Given the description of an element on the screen output the (x, y) to click on. 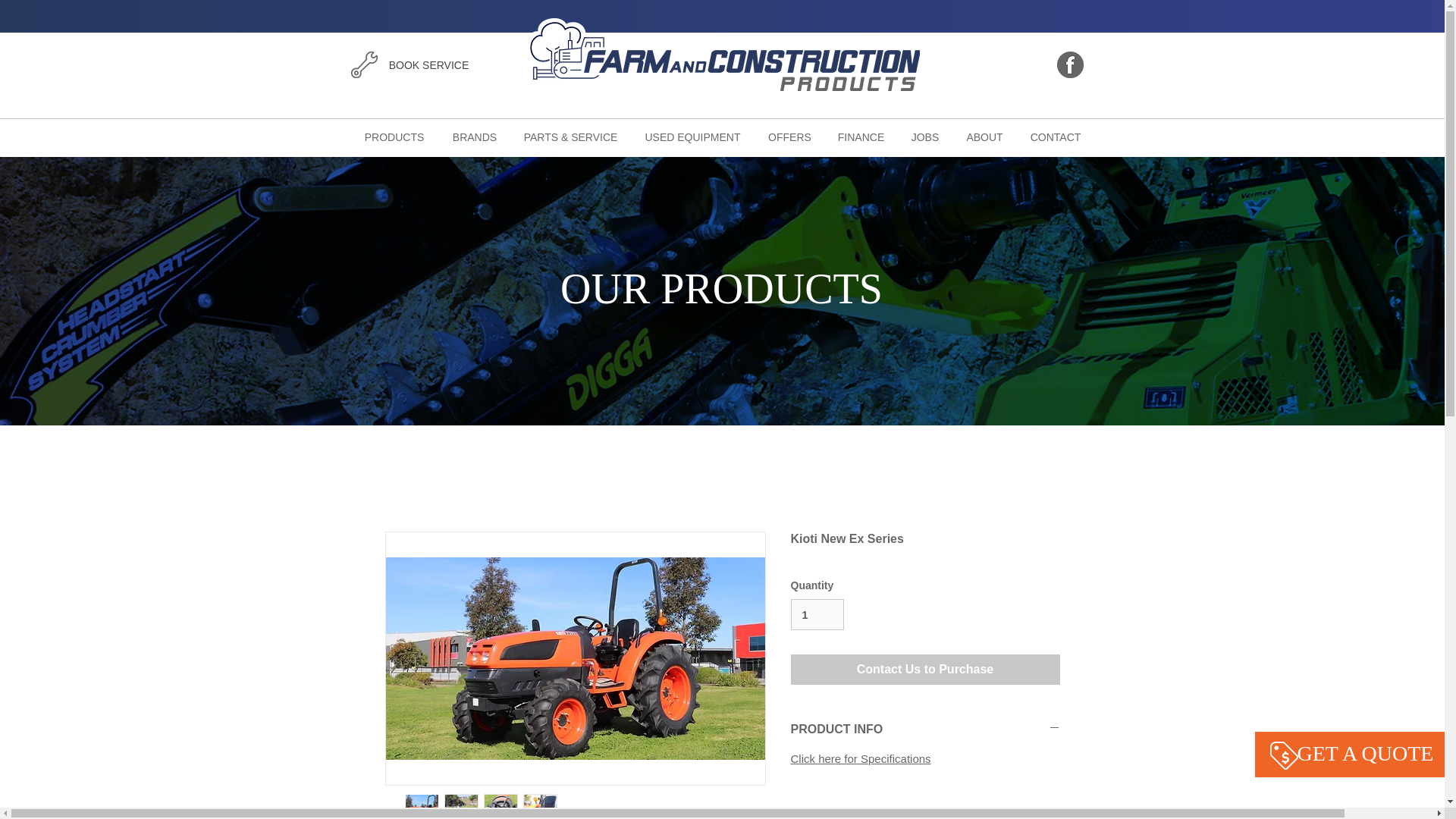
USED EQUIPMENT (691, 136)
FINANCE (860, 136)
GET A QUOTE (239, 62)
BRANDS (474, 136)
Contact Us to Purchase (924, 669)
BOOK SERVICE (1353, 65)
JOBS (925, 136)
1 (817, 613)
ABOUT (984, 136)
PRODUCT INFO (924, 729)
